Given the description of an element on the screen output the (x, y) to click on. 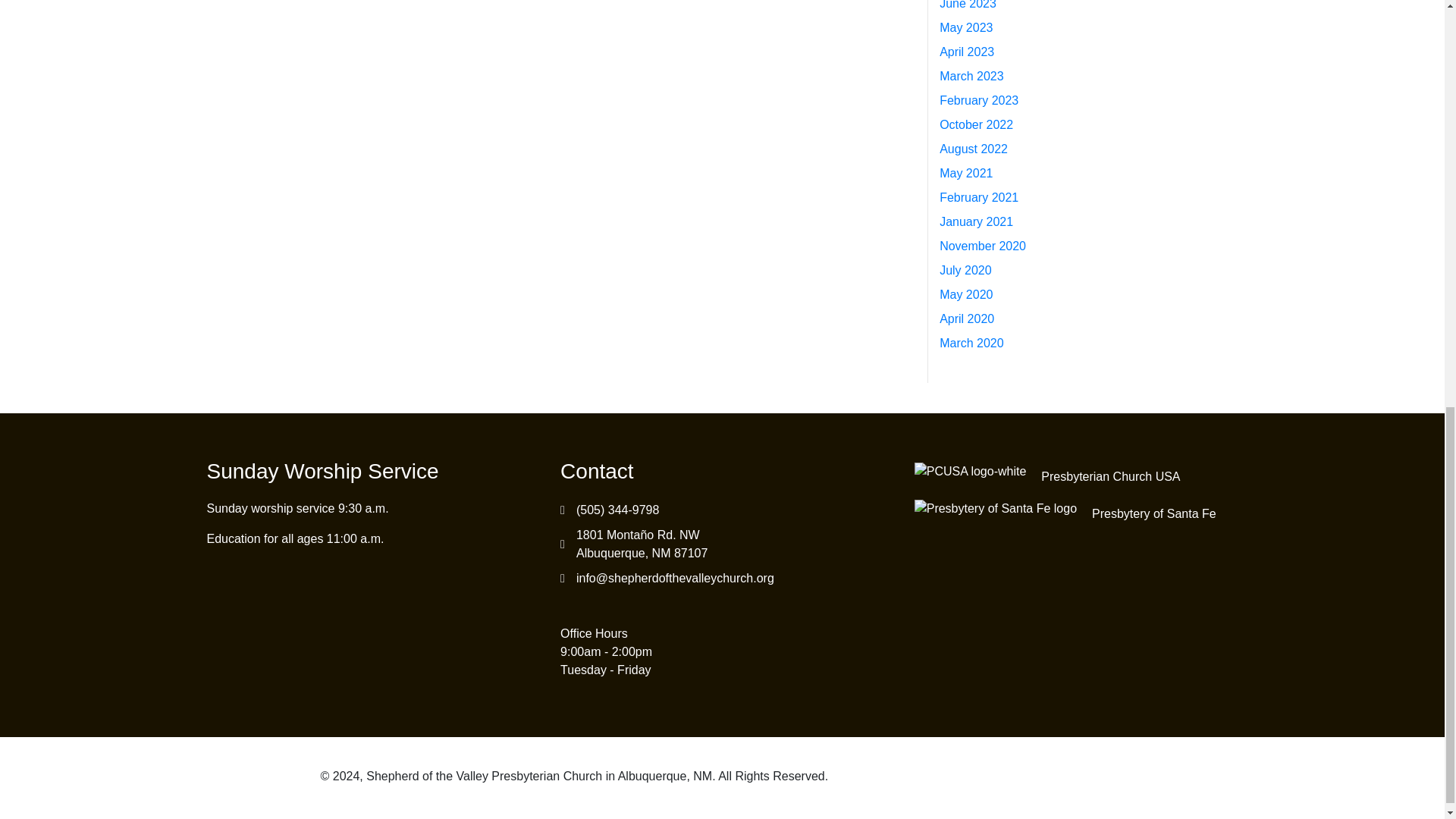
May 2023 (965, 27)
March 2023 (971, 75)
October 2022 (976, 124)
February 2023 (978, 100)
June 2023 (967, 4)
April 2023 (966, 51)
